Given the description of an element on the screen output the (x, y) to click on. 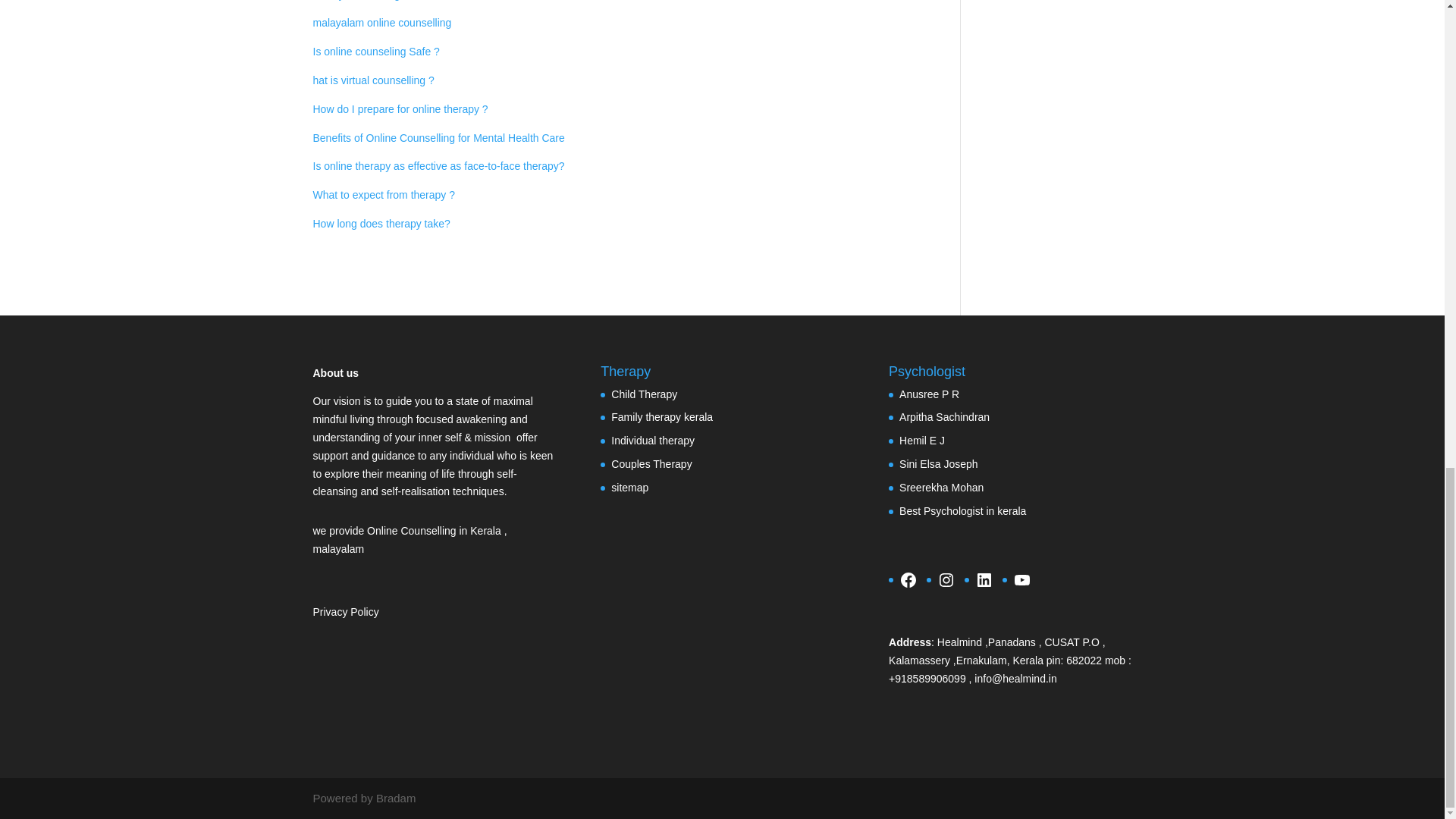
Benefits of Online Counselling for Mental Health Care (438, 137)
Is online counseling Safe ? (376, 51)
hat is virtual counselling ? (373, 80)
How long does therapy take? (381, 223)
How do I prepare for online therapy ? (400, 109)
Is online therapy as effective as face-to-face therapy? (438, 165)
What to expect from therapy ? (383, 194)
malayalam online counselling (382, 22)
